Given the description of an element on the screen output the (x, y) to click on. 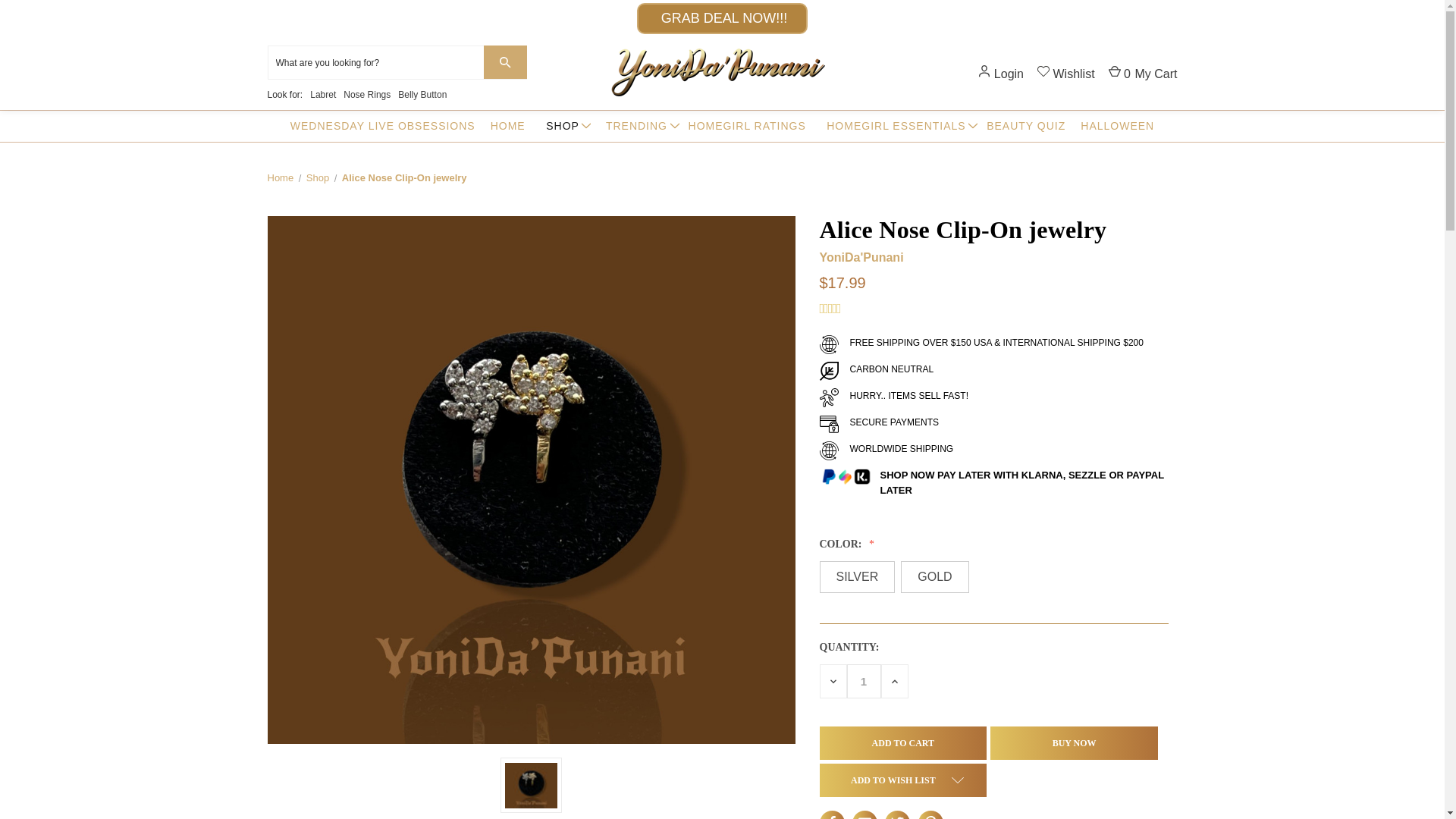
Alice Nose Clip-On jewelry (531, 785)
Buy Now (1073, 743)
Facebook (831, 817)
Add to Cart (902, 743)
PayPal Message 1 (993, 512)
1 (862, 681)
